Given the description of an element on the screen output the (x, y) to click on. 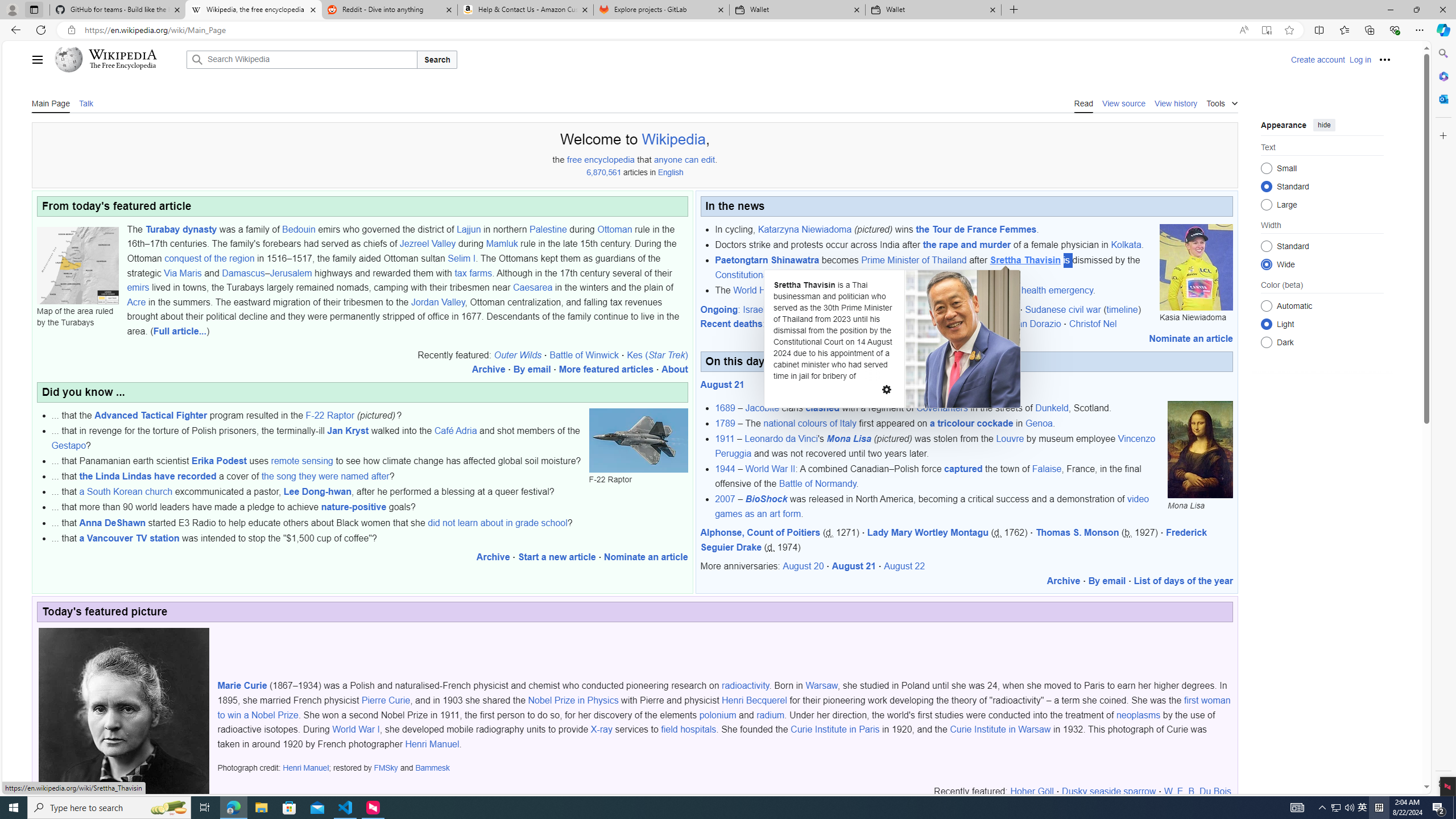
Jan Kryst (348, 430)
Dunkeld (1051, 407)
Advanced Tactical Fighter (151, 415)
first woman to win a Nobel Prize (723, 707)
a Vancouver TV station (128, 537)
Light (1266, 323)
Large (1266, 204)
Outer Wilds (517, 354)
